Given the description of an element on the screen output the (x, y) to click on. 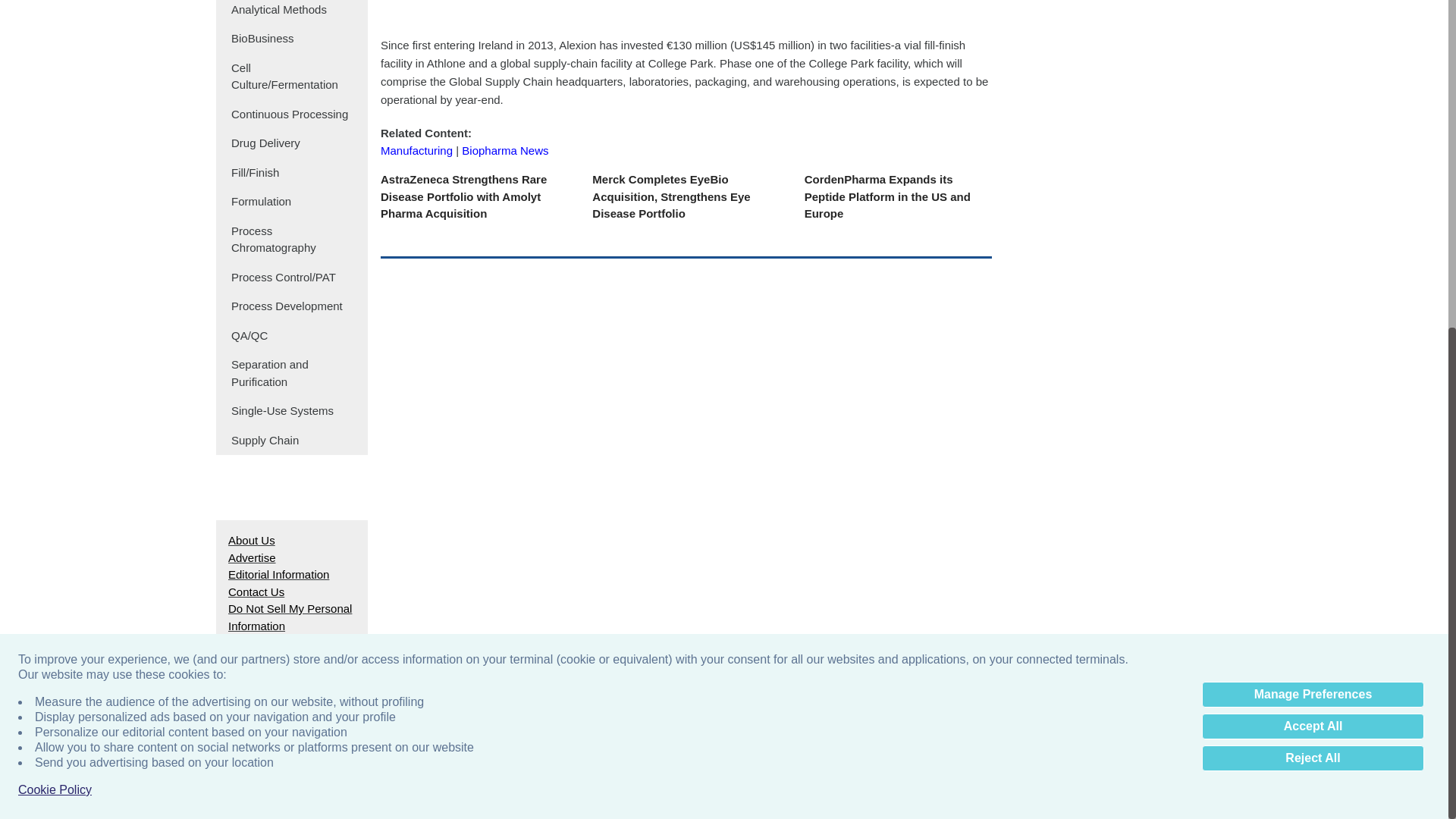
Reject All (1312, 211)
3rd party ad content (686, 12)
Cookie Policy (54, 242)
3rd party ad content (1117, 34)
Accept All (1312, 179)
Manage Preferences (1312, 147)
3rd party ad content (723, 233)
